Given the description of an element on the screen output the (x, y) to click on. 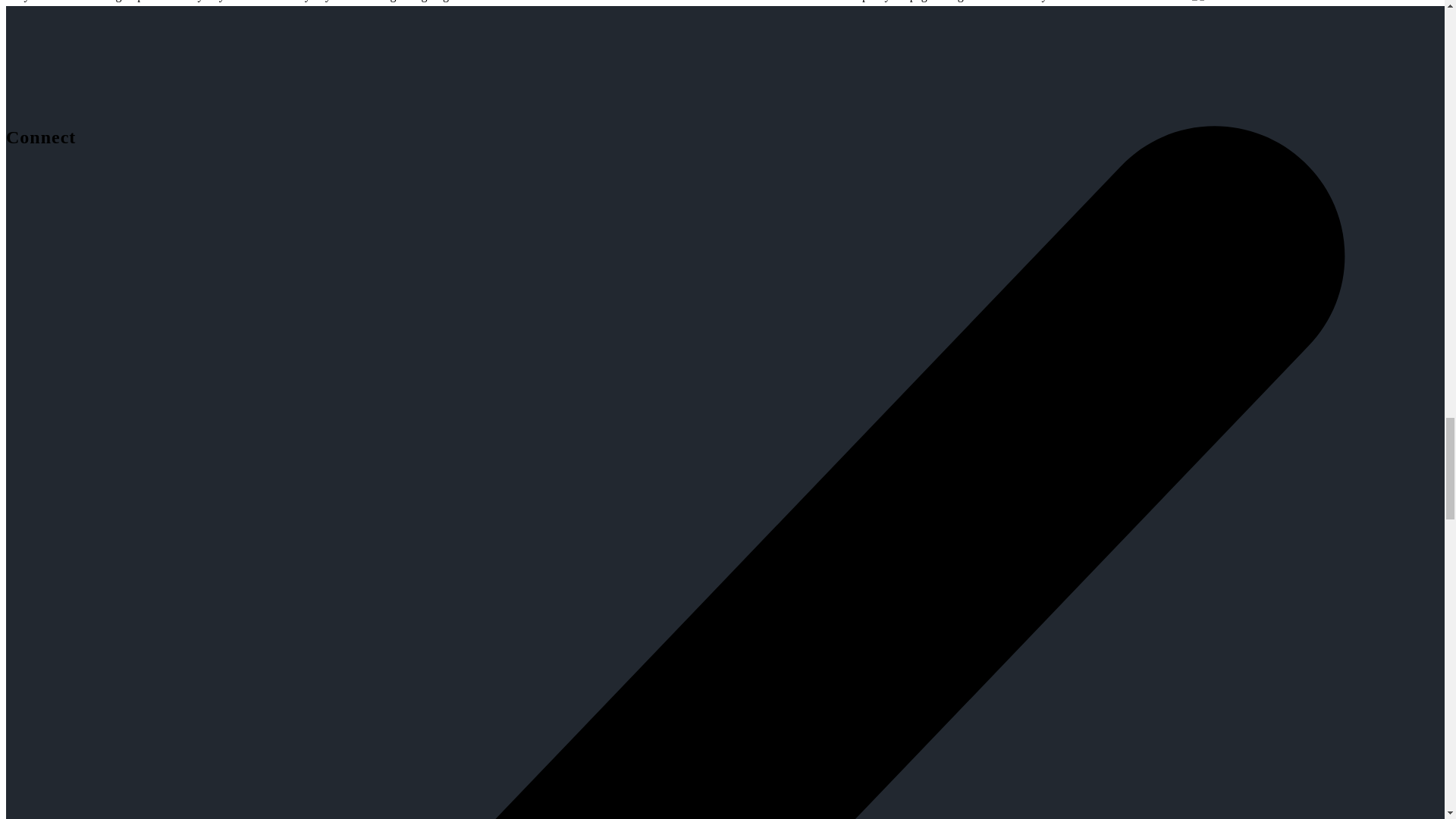
JavaScript (30, 206)
React (306, 206)
Node.js (273, 206)
Web Development (101, 206)
General Programming (201, 206)
